Given the description of an element on the screen output the (x, y) to click on. 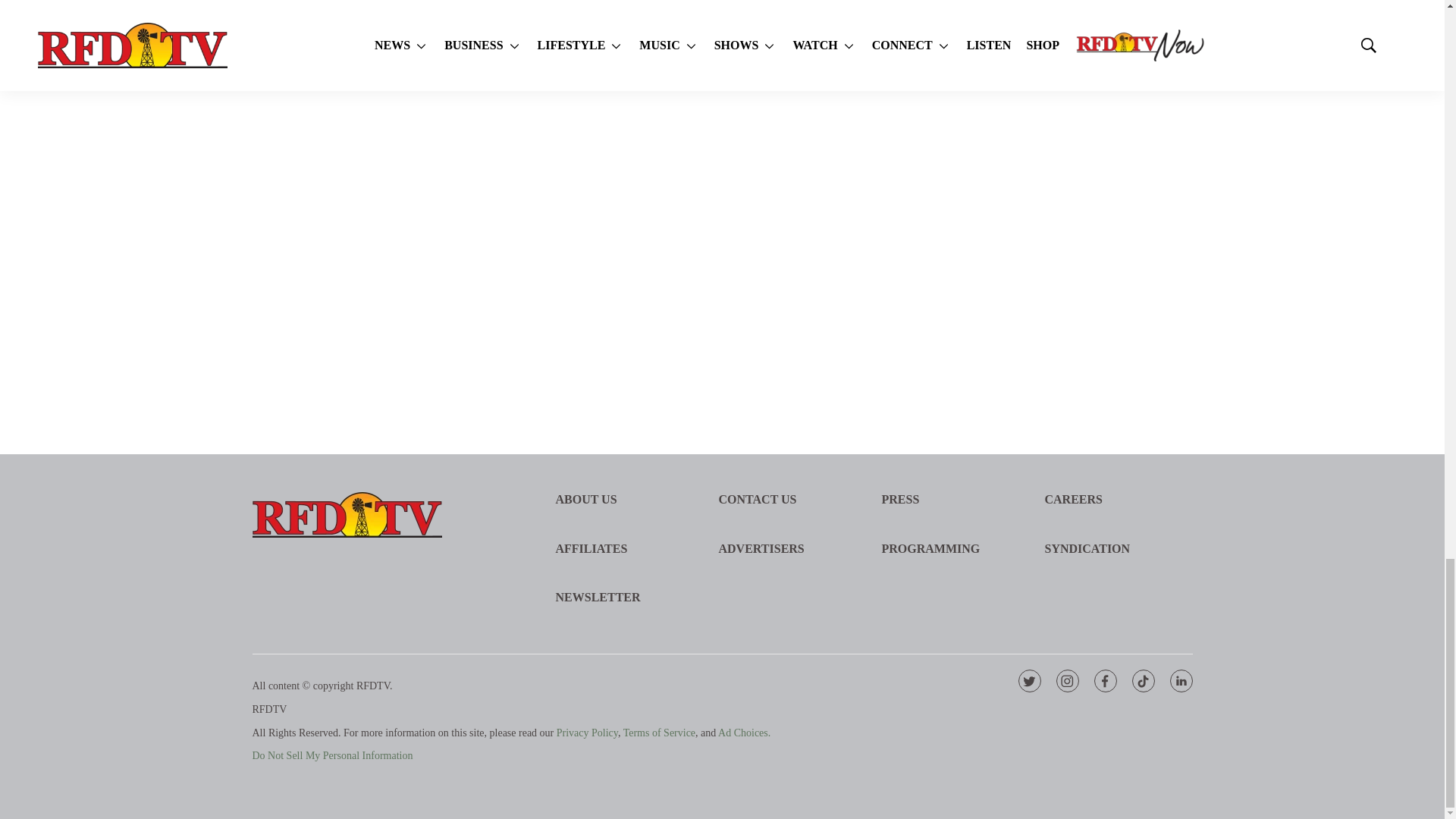
Signup Widget Embed (1070, 174)
